Given the description of an element on the screen output the (x, y) to click on. 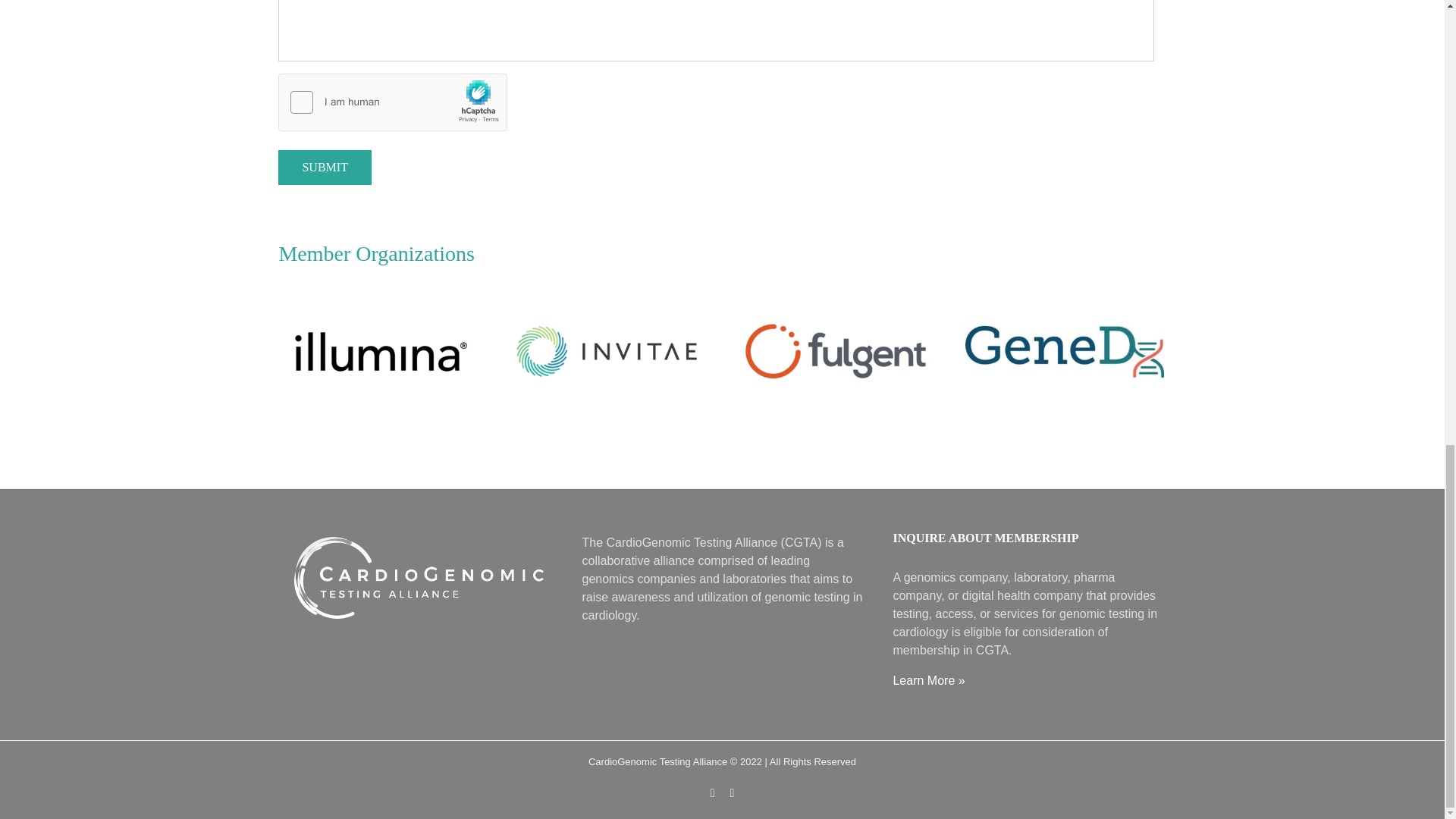
Submit (324, 167)
Submit (324, 167)
Widget containing checkbox for hCaptcha security challenge (393, 102)
